Given the description of an element on the screen output the (x, y) to click on. 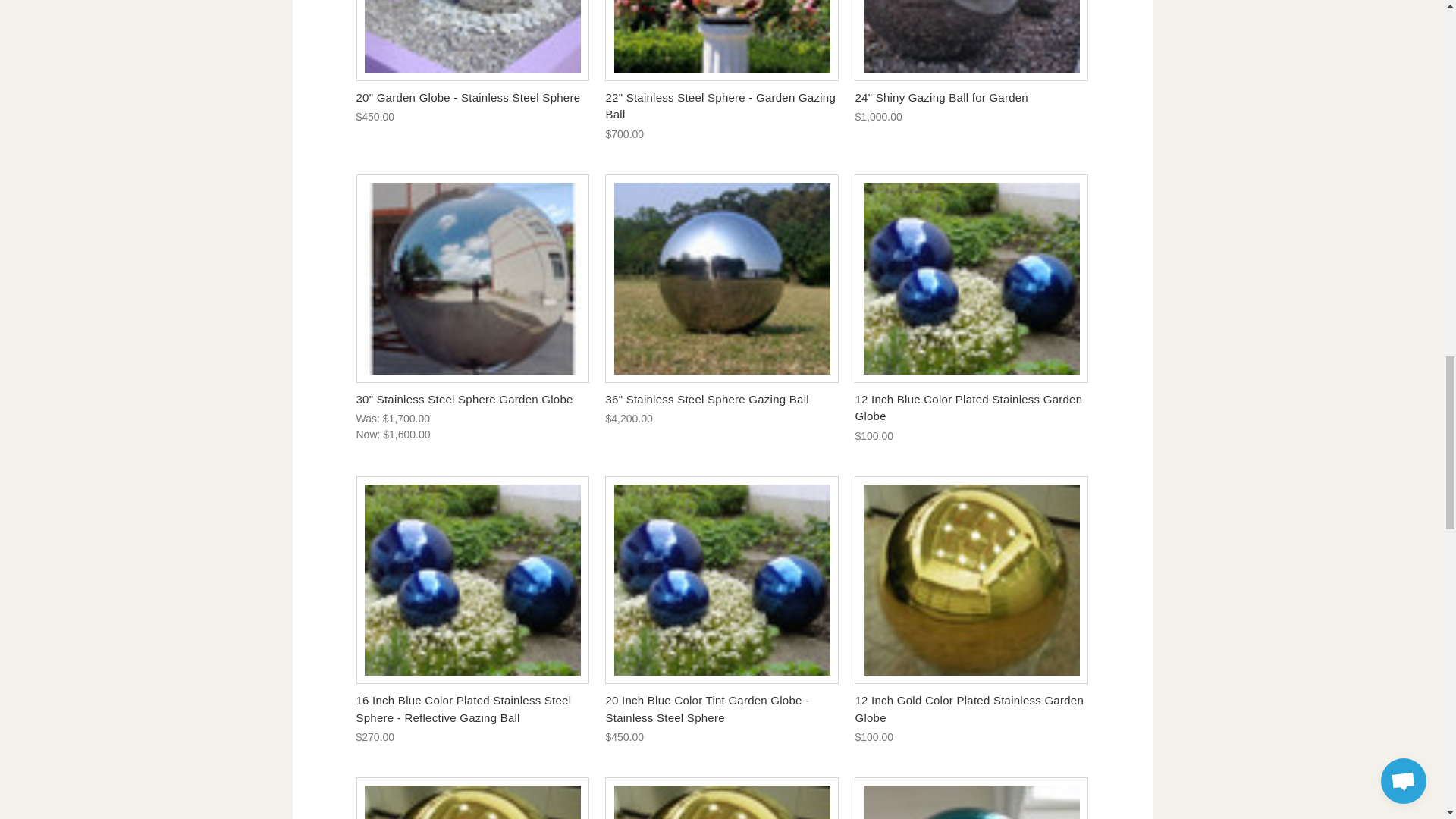
20 inch  Blue Mirror Stainless Steel Spheres (721, 579)
Blue Color Plated 16 inch Gazing Ball (472, 579)
Gazing ball on pedestal - mirrored stainless steel (721, 40)
